Given the description of an element on the screen output the (x, y) to click on. 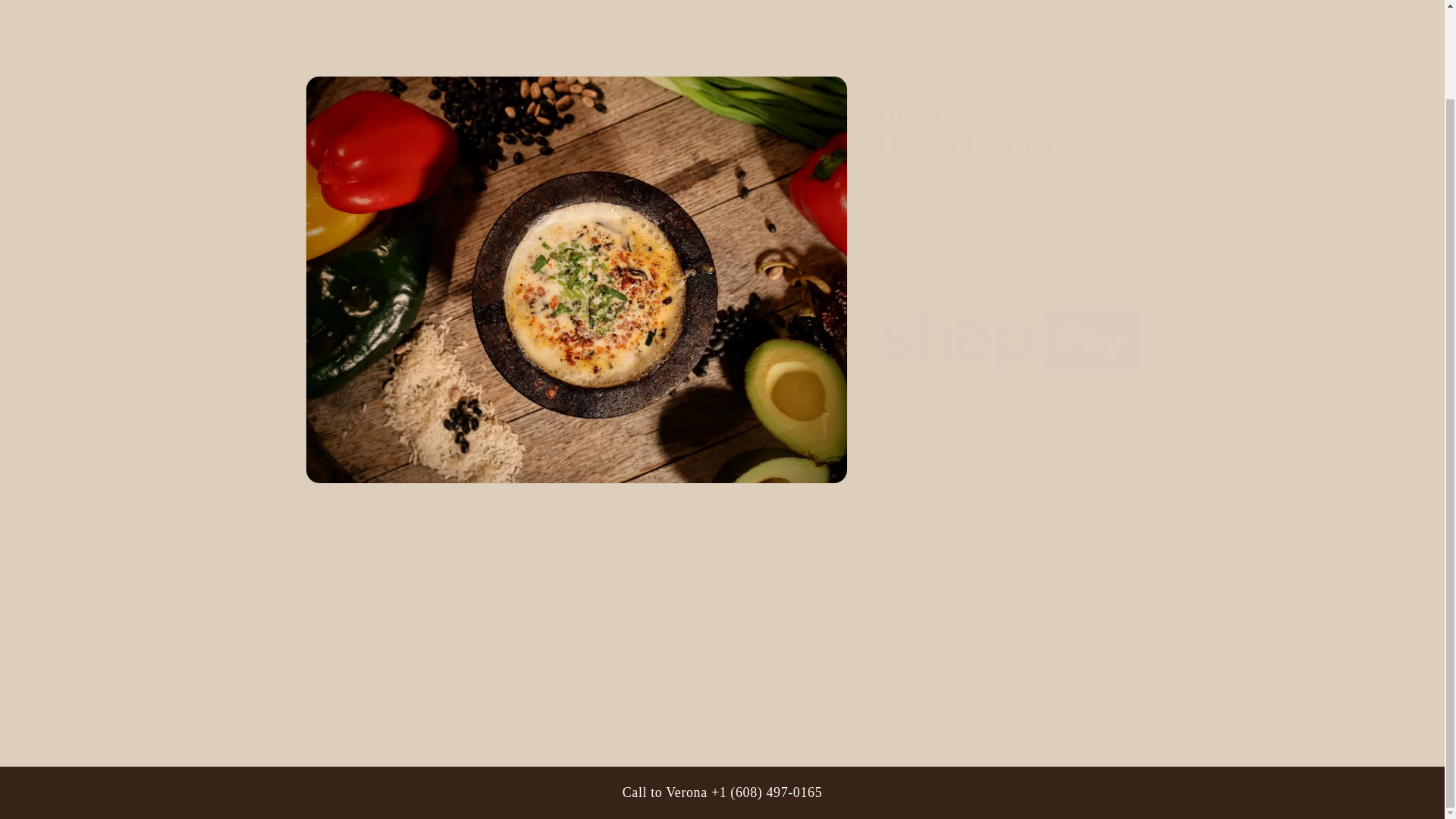
Decrease quantity for Queso fundido (894, 447)
Skip to product information (350, 92)
Increase quantity for Queso fundido (967, 447)
1 (931, 447)
Add to cart (1008, 501)
